Given the description of an element on the screen output the (x, y) to click on. 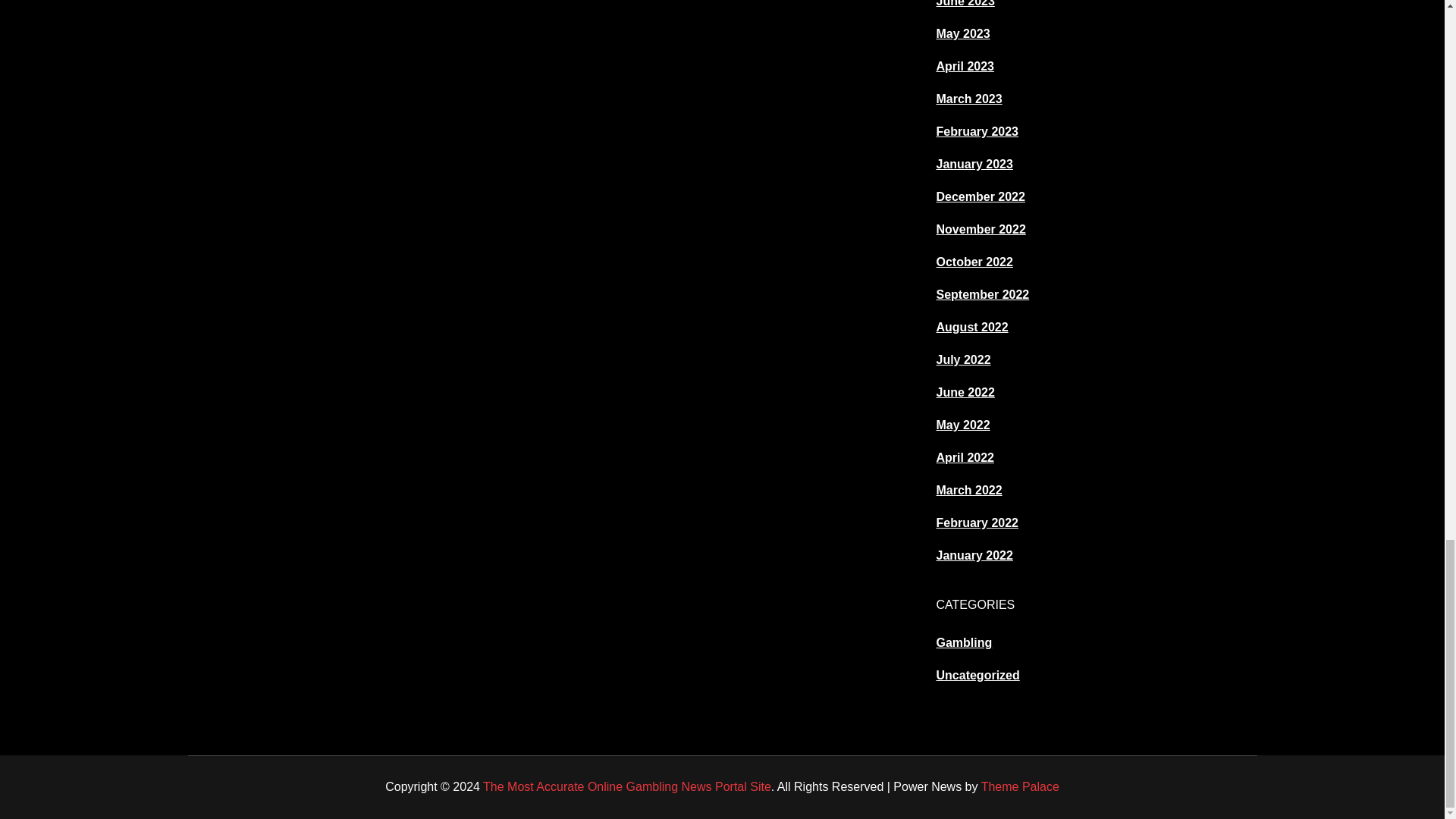
February 2023 (976, 131)
April 2023 (964, 65)
June 2023 (965, 3)
January 2023 (973, 164)
March 2023 (968, 98)
May 2023 (963, 33)
